Given the description of an element on the screen output the (x, y) to click on. 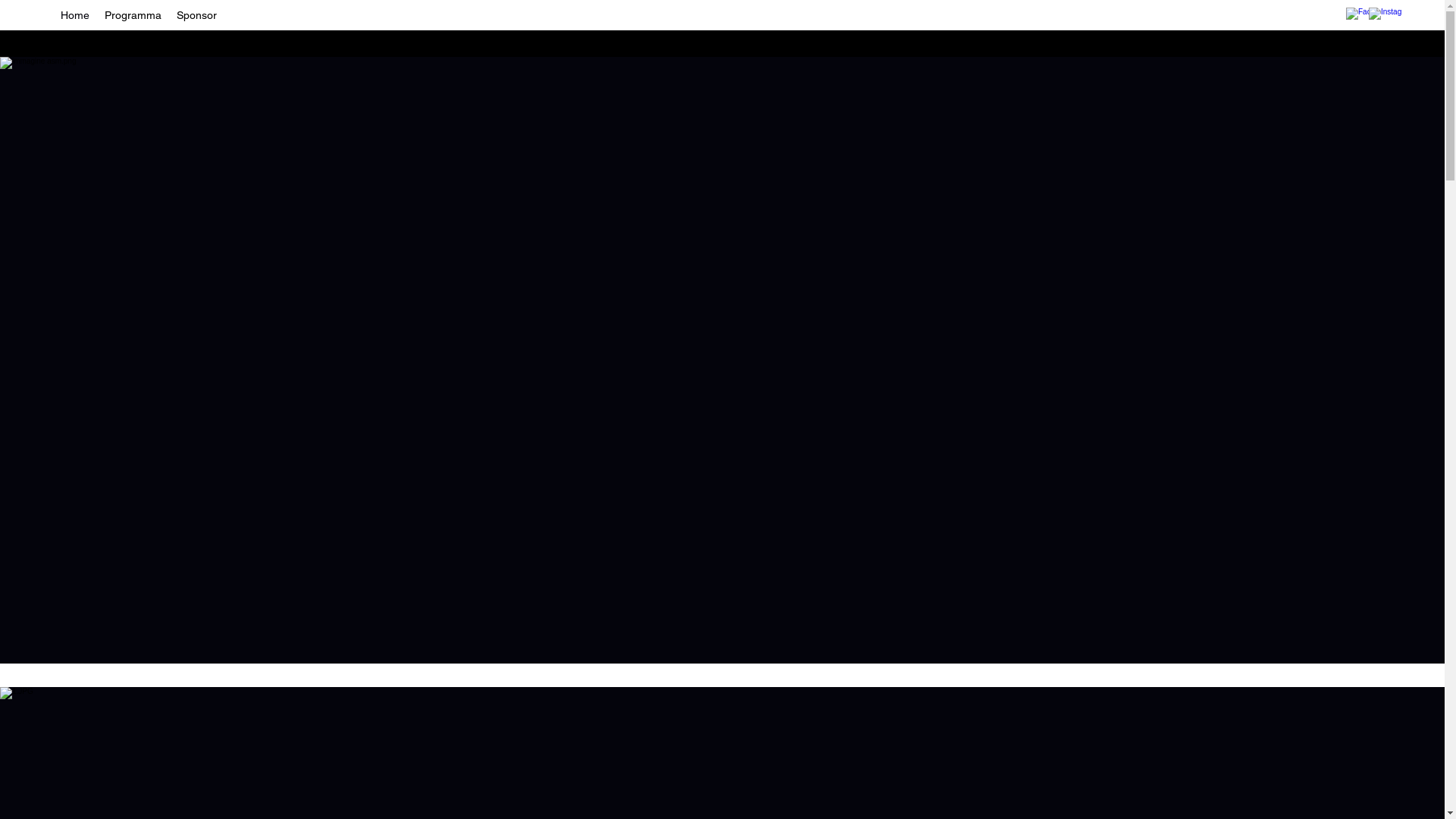
Home Element type: text (75, 14)
Sponsor Element type: text (196, 14)
Programma Element type: text (133, 14)
